Given the description of an element on the screen output the (x, y) to click on. 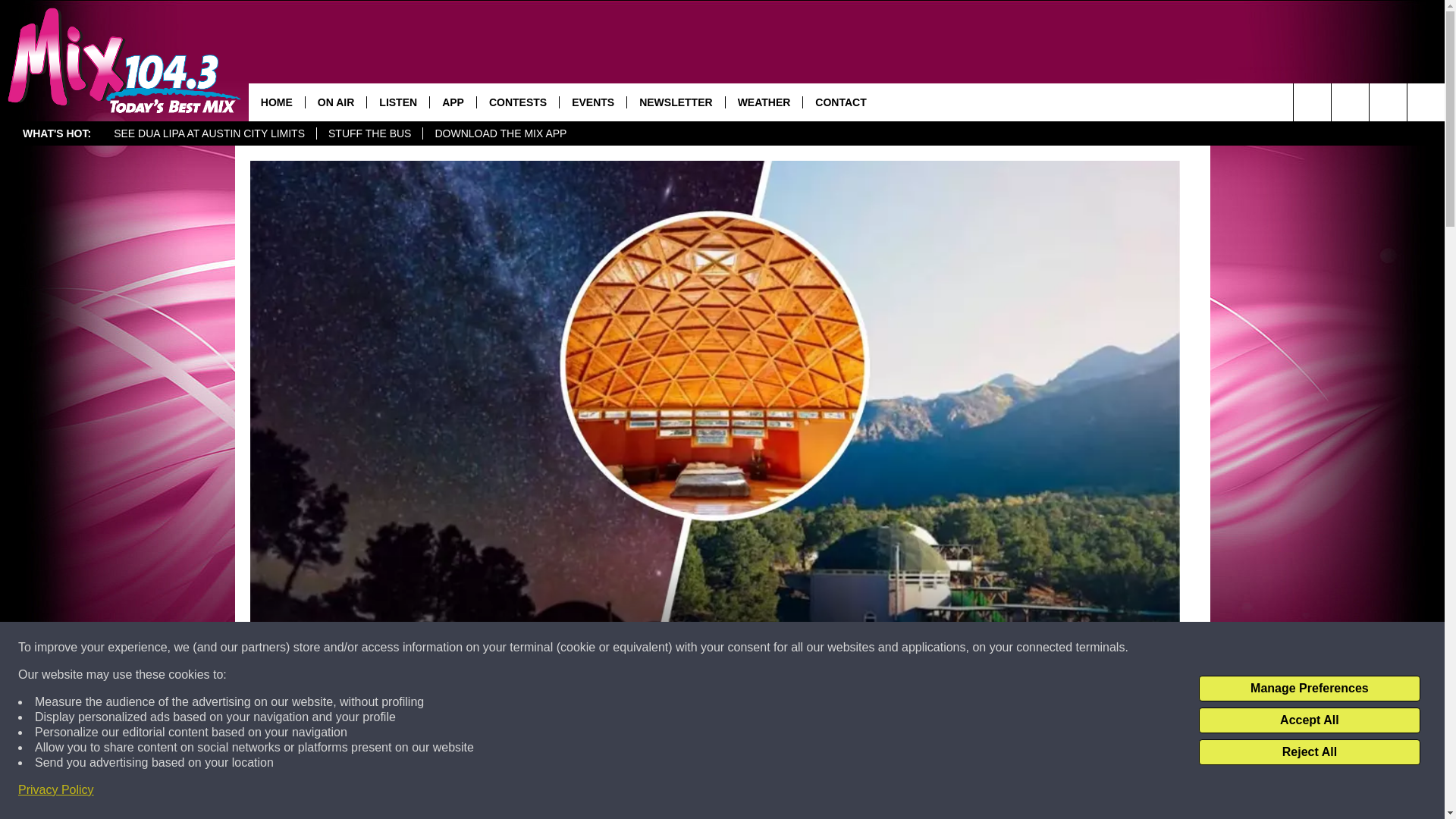
Share on Facebook (517, 791)
APP (452, 102)
Share on Twitter (912, 791)
HOME (276, 102)
CONTESTS (517, 102)
SEE DUA LIPA AT AUSTIN CITY LIMITS (208, 133)
STUFF THE BUS (368, 133)
Reject All (1309, 751)
DOWNLOAD THE MIX APP (500, 133)
ON AIR (335, 102)
Privacy Policy (55, 789)
EVENTS (592, 102)
WHAT'S HOT: (56, 133)
Manage Preferences (1309, 688)
LISTEN (397, 102)
